Given the description of an element on the screen output the (x, y) to click on. 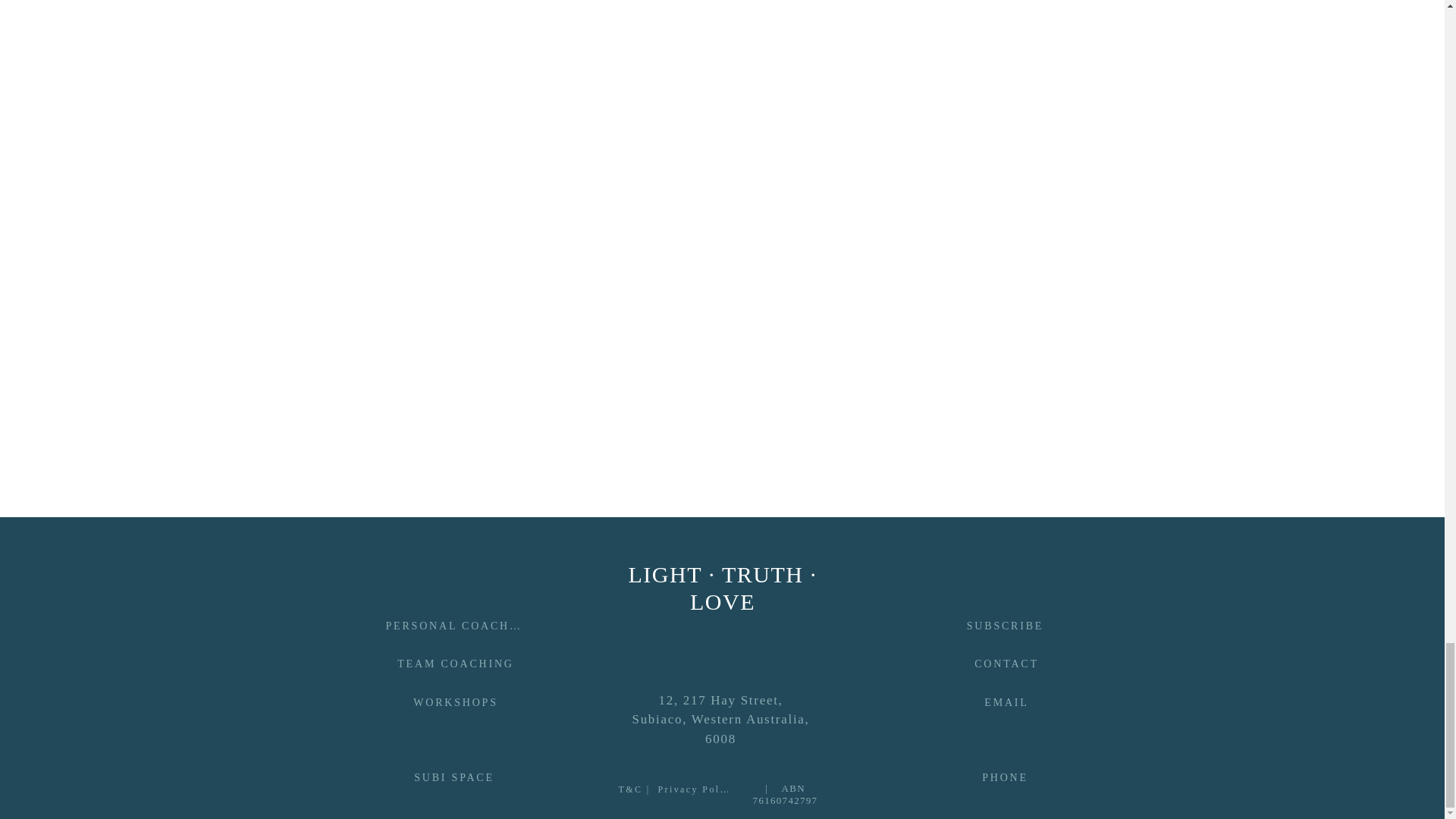
PHONE (1004, 777)
SUBI SPACE (453, 777)
SUBSCRIBE (1004, 626)
TEAM COACHING (455, 663)
CONTACT (1005, 663)
WORKSHOPS (455, 702)
EMAIL (1005, 702)
Privacy Policy (694, 789)
PERSONAL COACHING (453, 626)
